Given the description of an element on the screen output the (x, y) to click on. 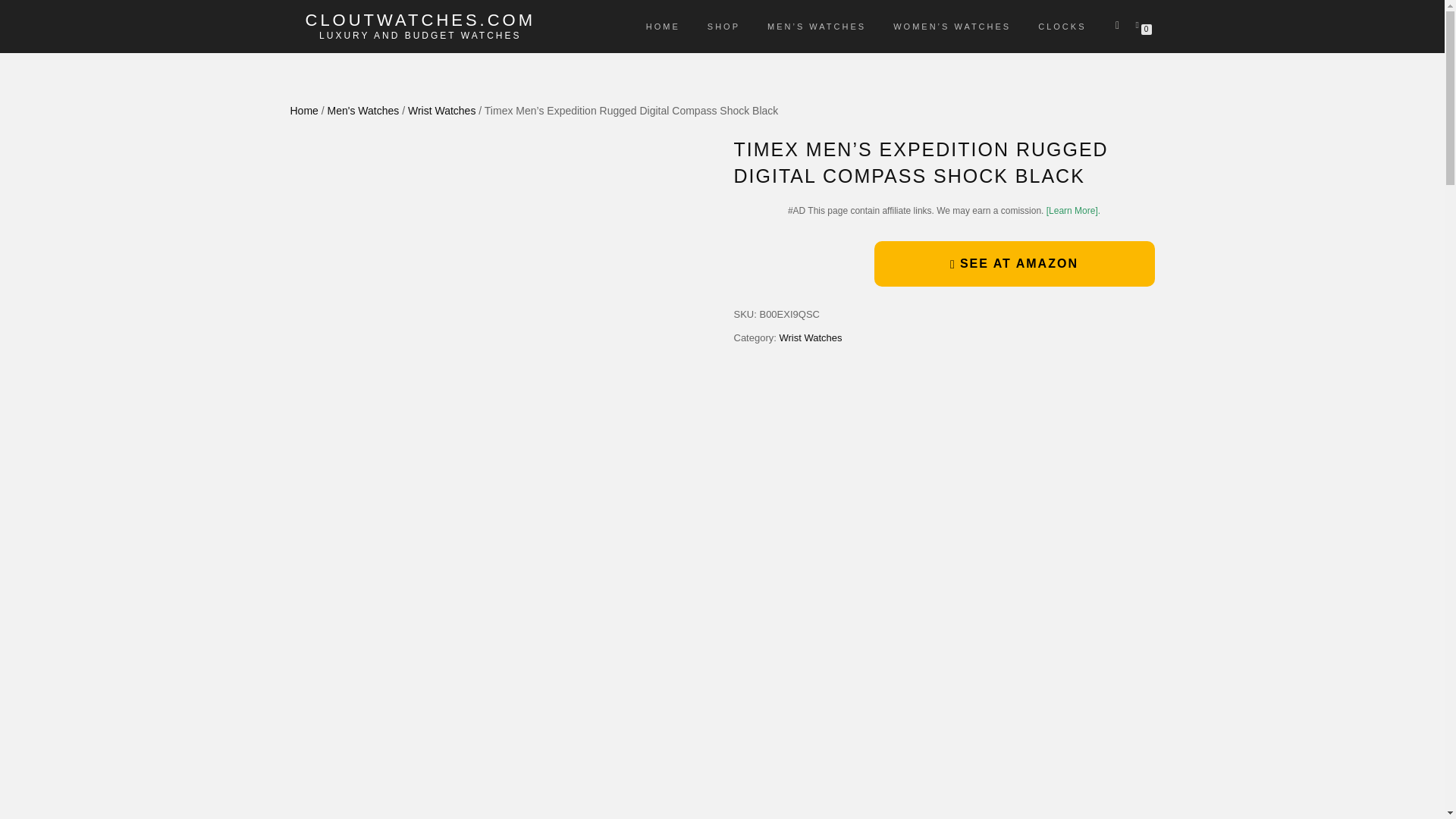
Luxury and Budget Watches (419, 35)
Home (303, 110)
Wrist Watches (809, 337)
CLOCKS (1061, 26)
SEE AT AMAZON (1013, 263)
CloutWatches.com (419, 20)
SHOP (723, 26)
0 (1139, 23)
HOME (662, 26)
LUXURY AND BUDGET WATCHES (419, 35)
